Given the description of an element on the screen output the (x, y) to click on. 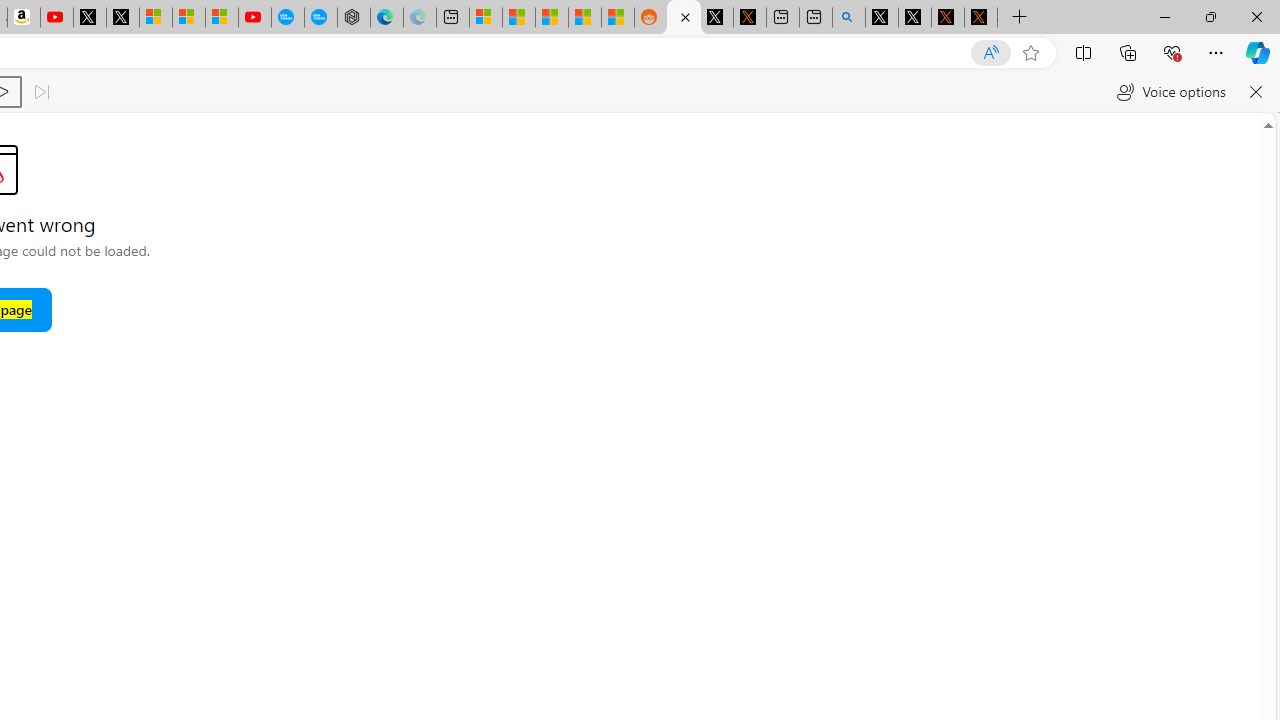
Day 1: Arriving in Yemen (surreal to be here) - YouTube (56, 17)
help.x.com | 524: A timeout occurred (749, 17)
Shanghai, China Weather trends | Microsoft Weather (617, 17)
Opinion: Op-Ed and Commentary - USA TODAY (287, 17)
Profile / X (882, 17)
Gloom - YouTube (255, 17)
Log in to X / X (717, 17)
